Given the description of an element on the screen output the (x, y) to click on. 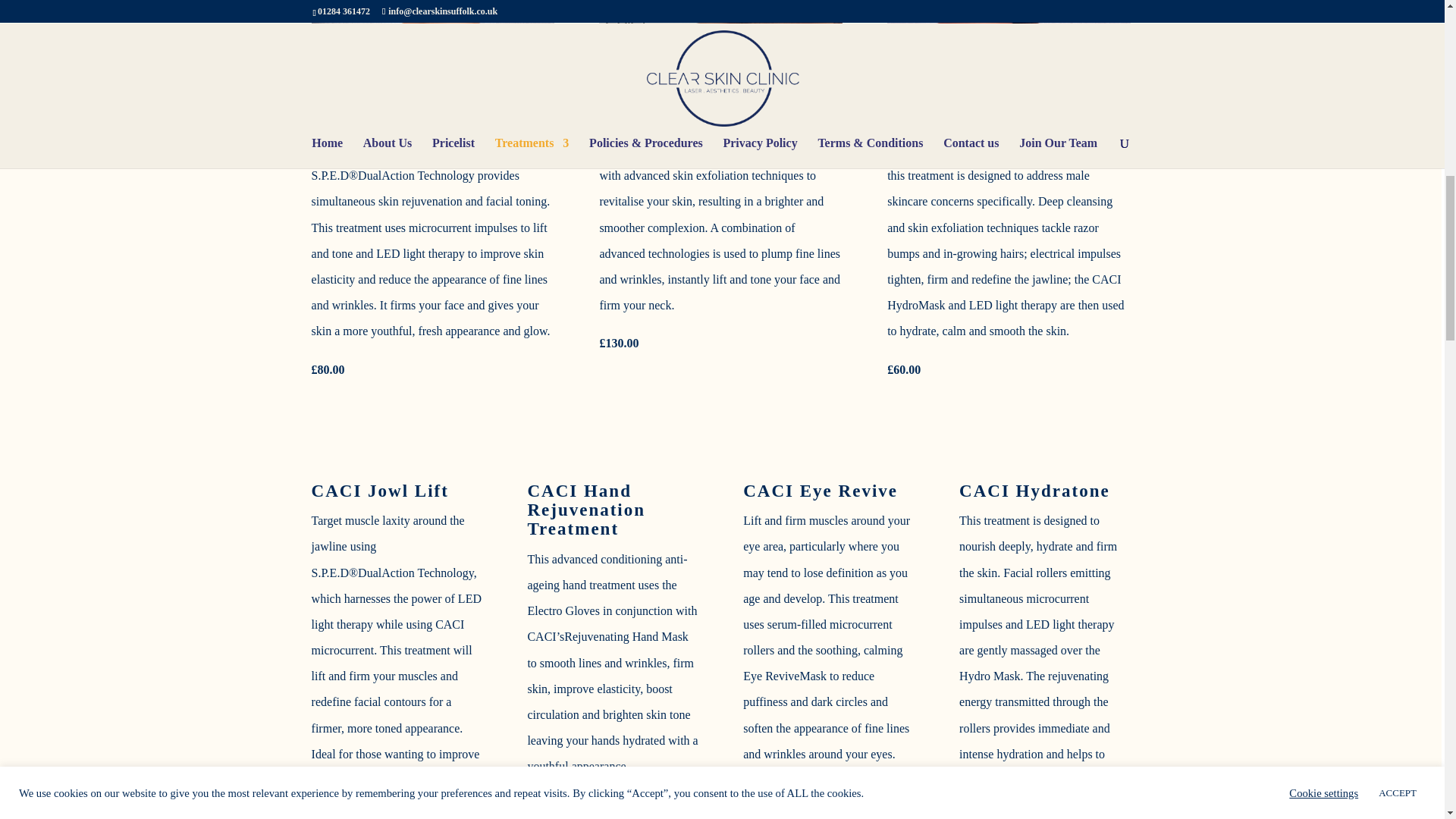
caciman (719, 15)
hydratoneimage (432, 15)
caciim (1007, 15)
